Given the description of an element on the screen output the (x, y) to click on. 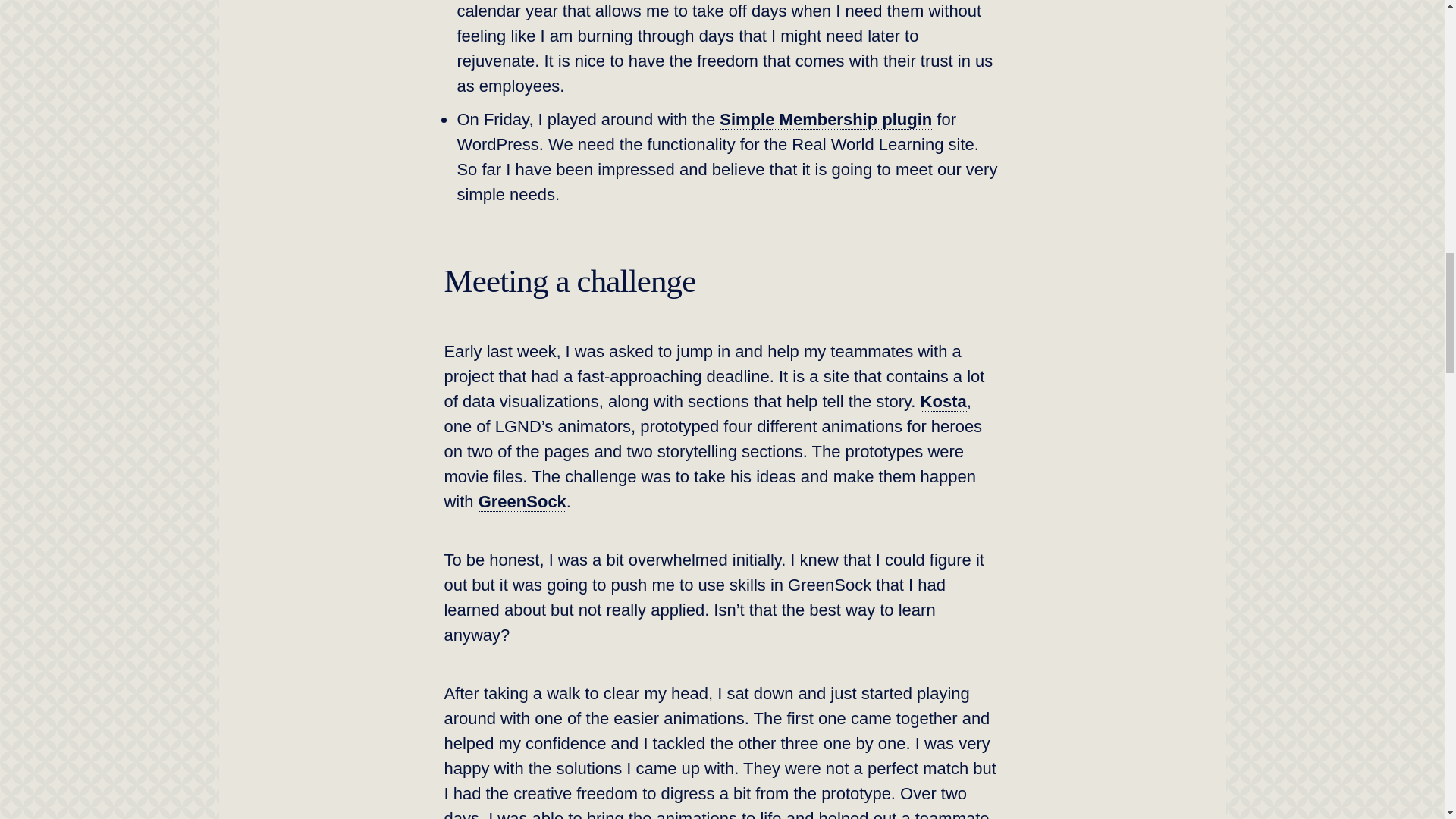
GreenSock (522, 501)
Simple Membership plugin (825, 119)
Kosta (943, 401)
